Given the description of an element on the screen output the (x, y) to click on. 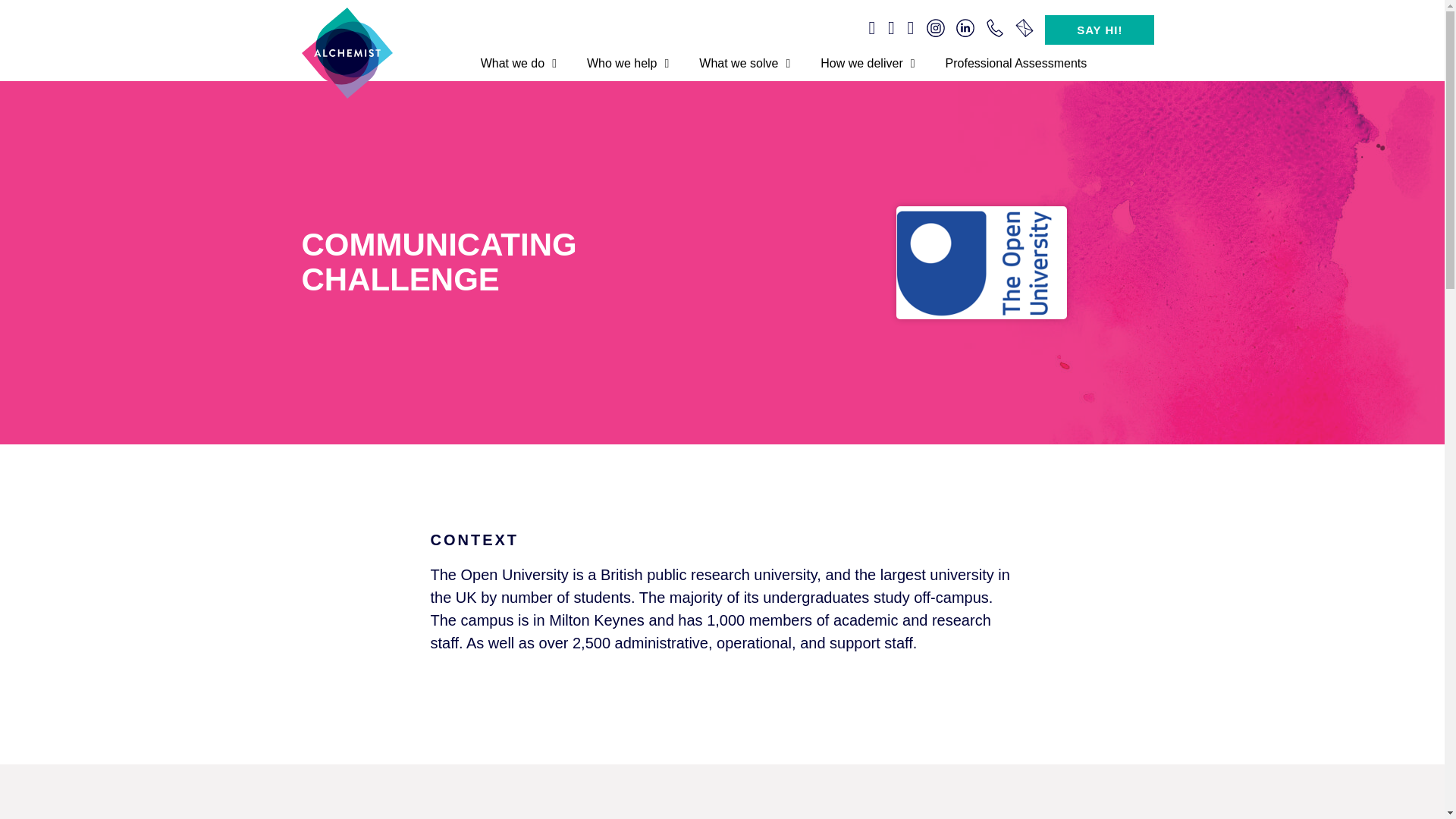
What we solve (744, 63)
What we do (518, 63)
Who we help (628, 63)
SAY HI! (1099, 30)
